Given the description of an element on the screen output the (x, y) to click on. 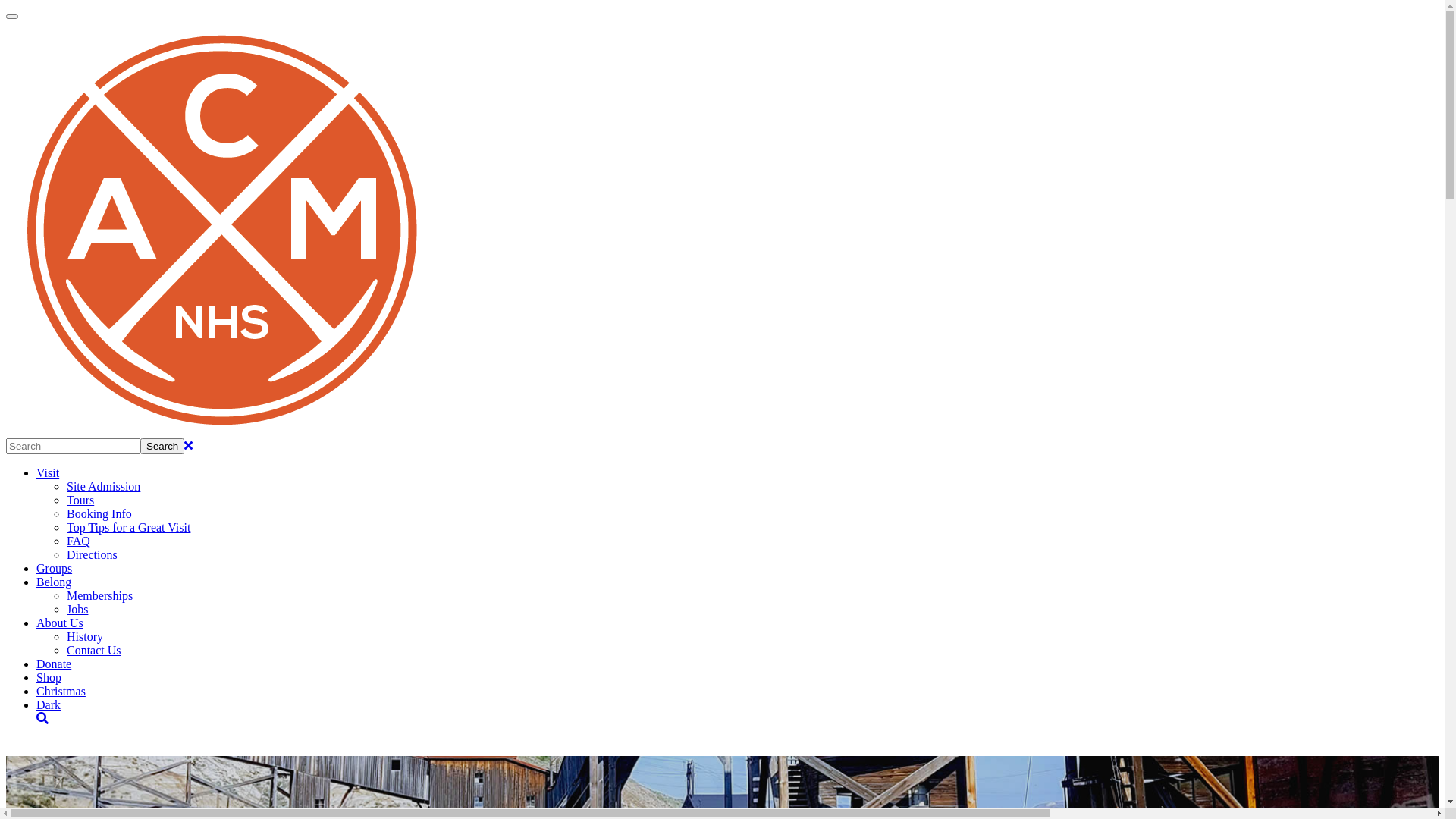
Donate Element type: text (53, 663)
Search Element type: text (162, 446)
Visit Element type: text (47, 472)
Jobs Element type: text (76, 608)
History Element type: text (84, 636)
Site Admission Element type: text (103, 486)
Booking Info Element type: text (98, 513)
Shop Element type: text (48, 677)
Belong Element type: text (53, 581)
Directions Element type: text (91, 554)
FAQ Element type: text (78, 540)
Dark Element type: text (48, 704)
Groups Element type: text (54, 567)
About Us Element type: text (59, 622)
Christmas Element type: text (60, 690)
Memberships Element type: text (99, 595)
Tours Element type: text (80, 499)
Contact Us Element type: text (93, 649)
Top Tips for a Great Visit Element type: text (128, 526)
